Given the description of an element on the screen output the (x, y) to click on. 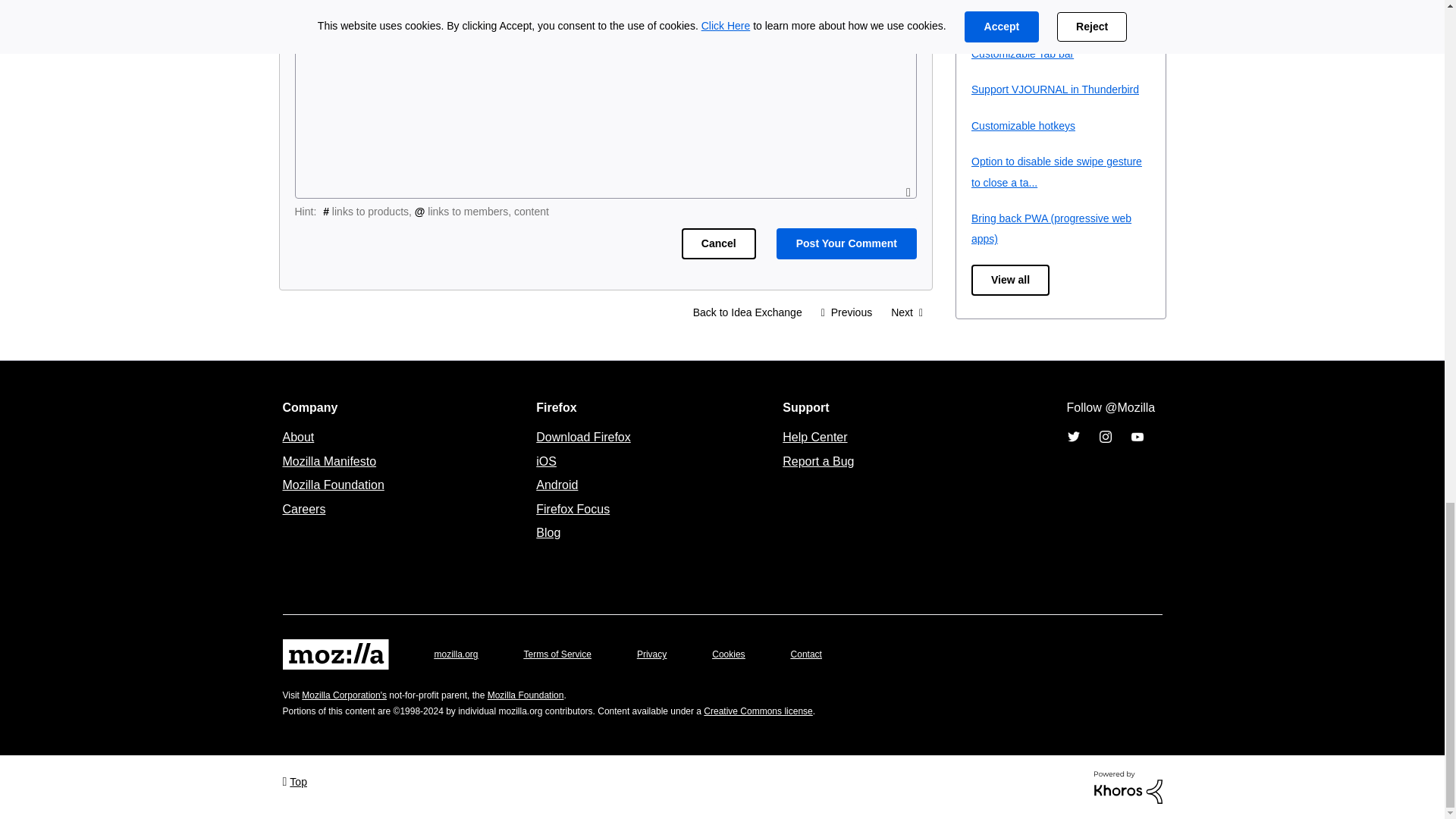
Cancel (718, 243)
Top (293, 780)
Post Your Comment (846, 243)
Top (293, 780)
